Given the description of an element on the screen output the (x, y) to click on. 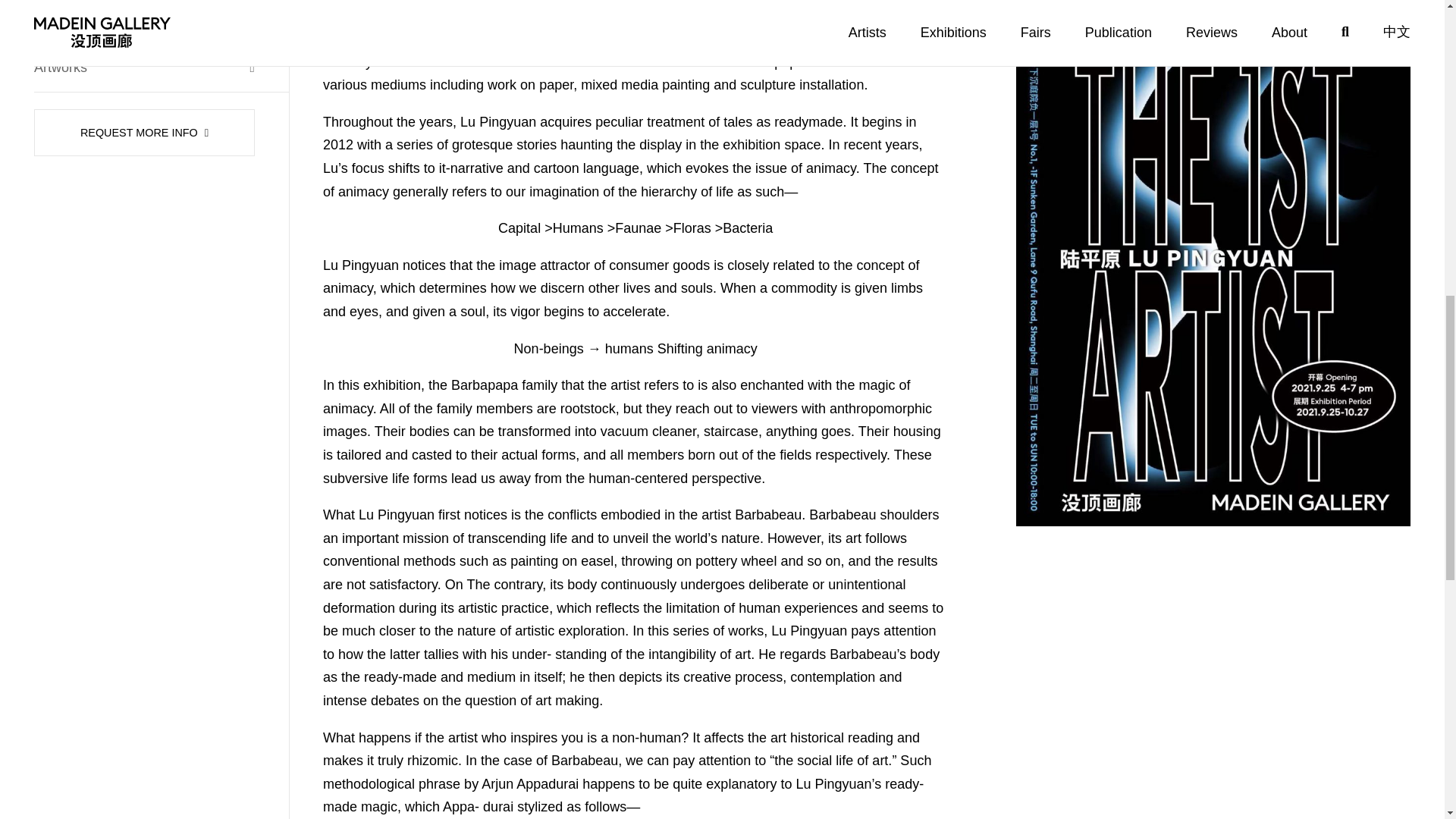
REQUEST MORE INFO (143, 131)
Installation Views (143, 18)
Artworks (143, 67)
